Given the description of an element on the screen output the (x, y) to click on. 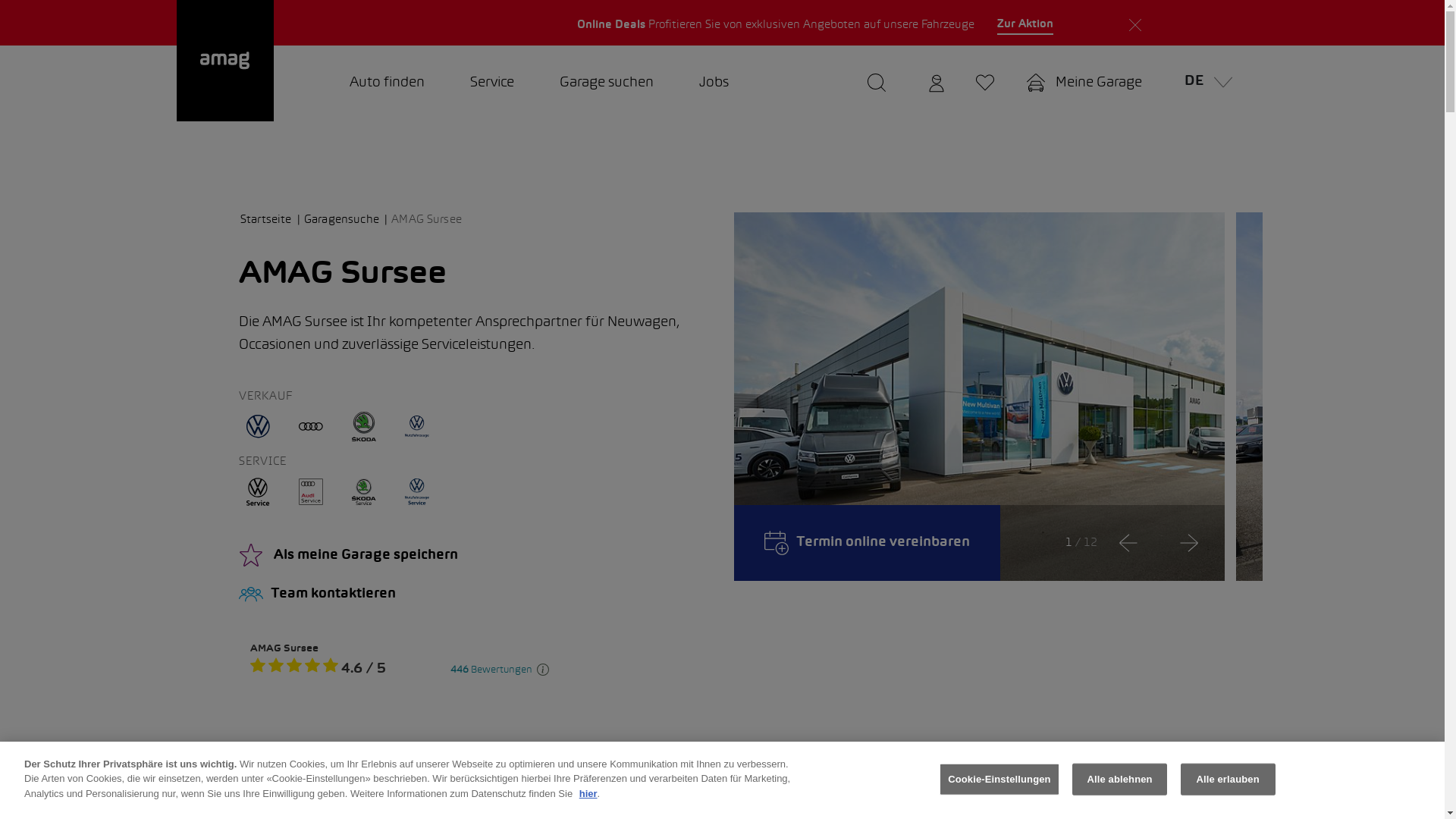
SCHNELL UND ONLINE Wir kaufen Ihr Auto Element type: text (398, 22)
Cookie-Einstellungen Element type: text (999, 779)
Termin online vereinbaren Element type: text (867, 542)
Jobs Element type: text (713, 83)
Meine Garage Element type: text (1083, 83)
Service Element type: text (491, 83)
Garage suchen Element type: text (606, 83)
Team kontaktieren Element type: text (474, 594)
Zur Aktion Element type: text (1025, 24)
Startseite Element type: text (270, 219)
hier Element type: text (588, 793)
NR. 1 IN DER SCHWEIZ mit 85 Standorten Element type: text (1053, 22)
Alle erlauben Element type: text (1227, 779)
DE Element type: text (1203, 83)
Auto finden Element type: text (386, 83)
Alle ablehnen Element type: text (1119, 779)
Garagensuche Element type: text (345, 219)
